Given the description of an element on the screen output the (x, y) to click on. 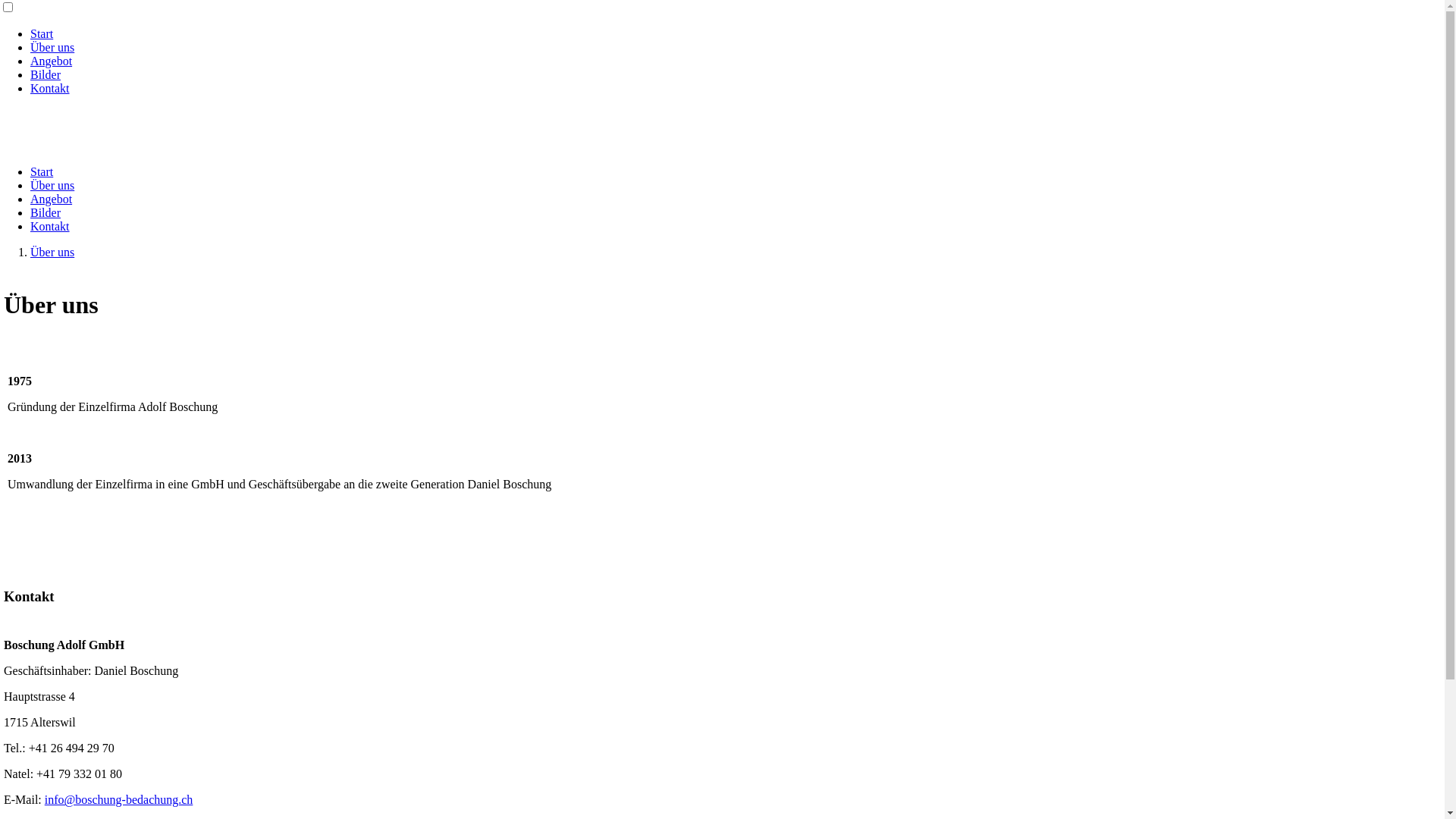
Start Element type: text (41, 33)
Bilder Element type: text (45, 74)
Kontakt Element type: text (49, 87)
Kontakt Element type: text (49, 225)
Angebot Element type: text (51, 60)
Start Element type: text (41, 171)
Angebot Element type: text (51, 198)
Bilder Element type: text (45, 212)
info@boschung-bedachung.ch Element type: text (118, 799)
